Given the description of an element on the screen output the (x, y) to click on. 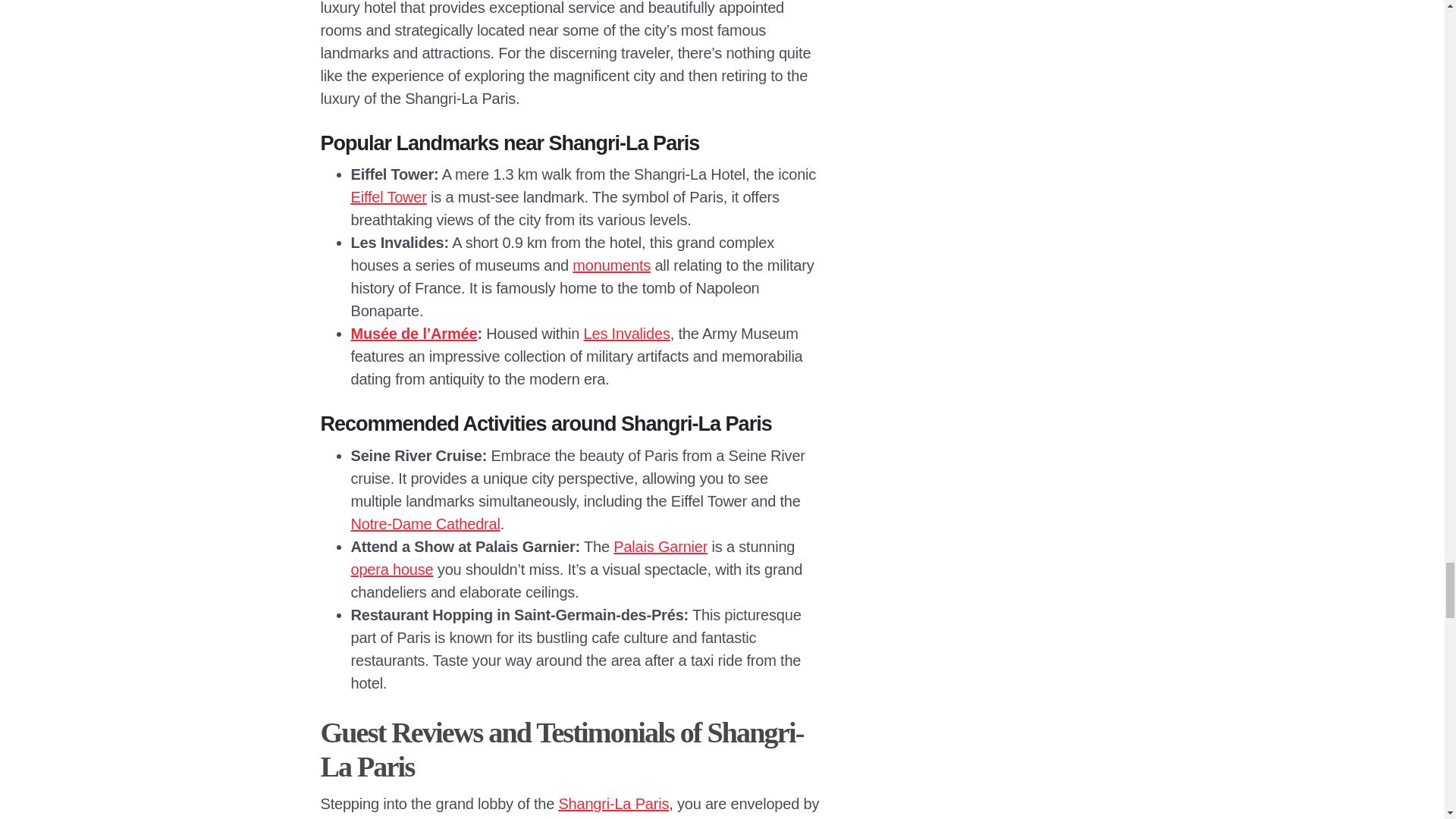
monuments (611, 265)
Notre-Dame Cathedral (424, 523)
Les Invalides (626, 333)
